Given the description of an element on the screen output the (x, y) to click on. 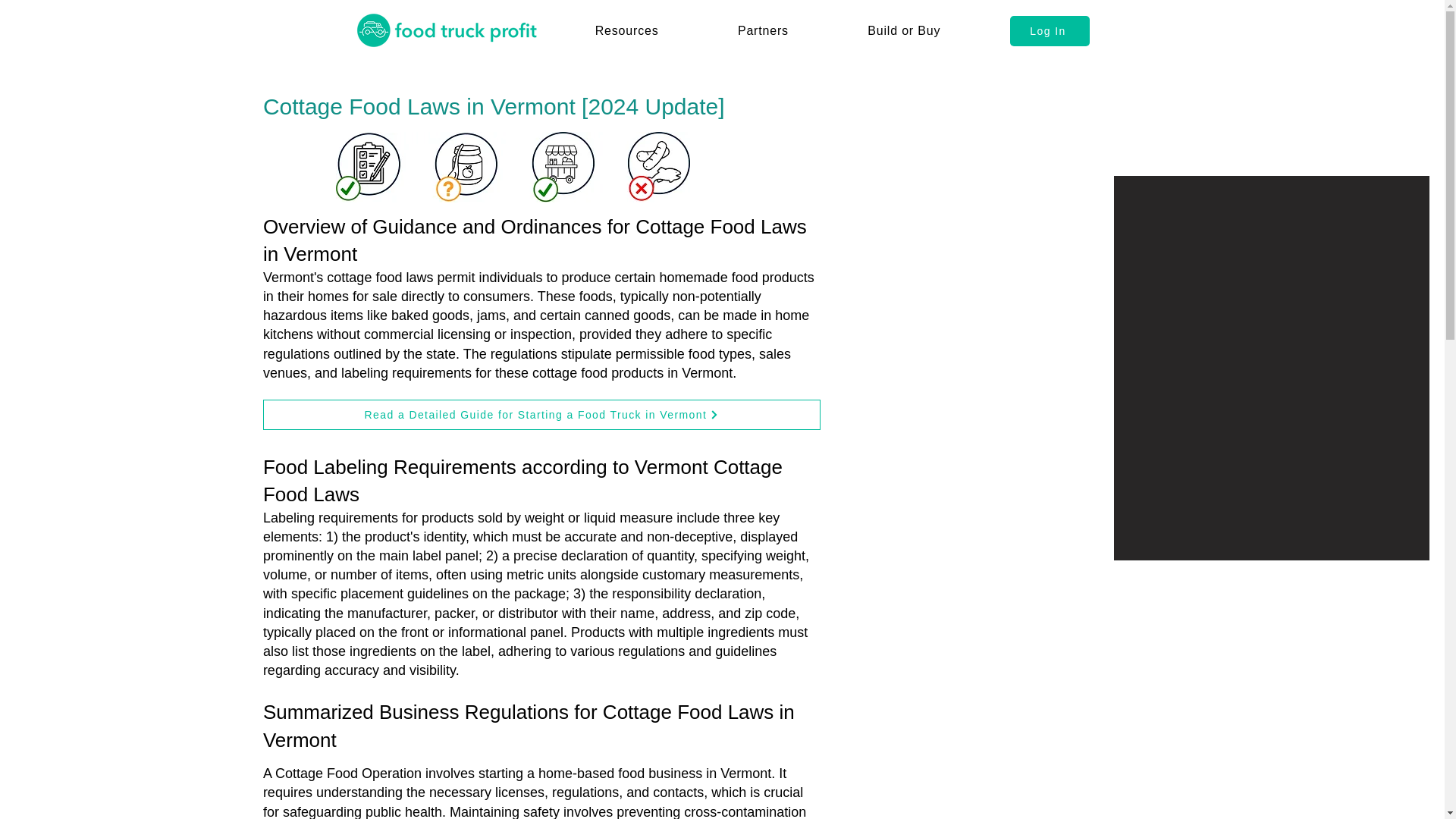
Log In (1049, 30)
Read a Detailed Guide for Starting a Food Truck in Vermont (542, 414)
